Given the description of an element on the screen output the (x, y) to click on. 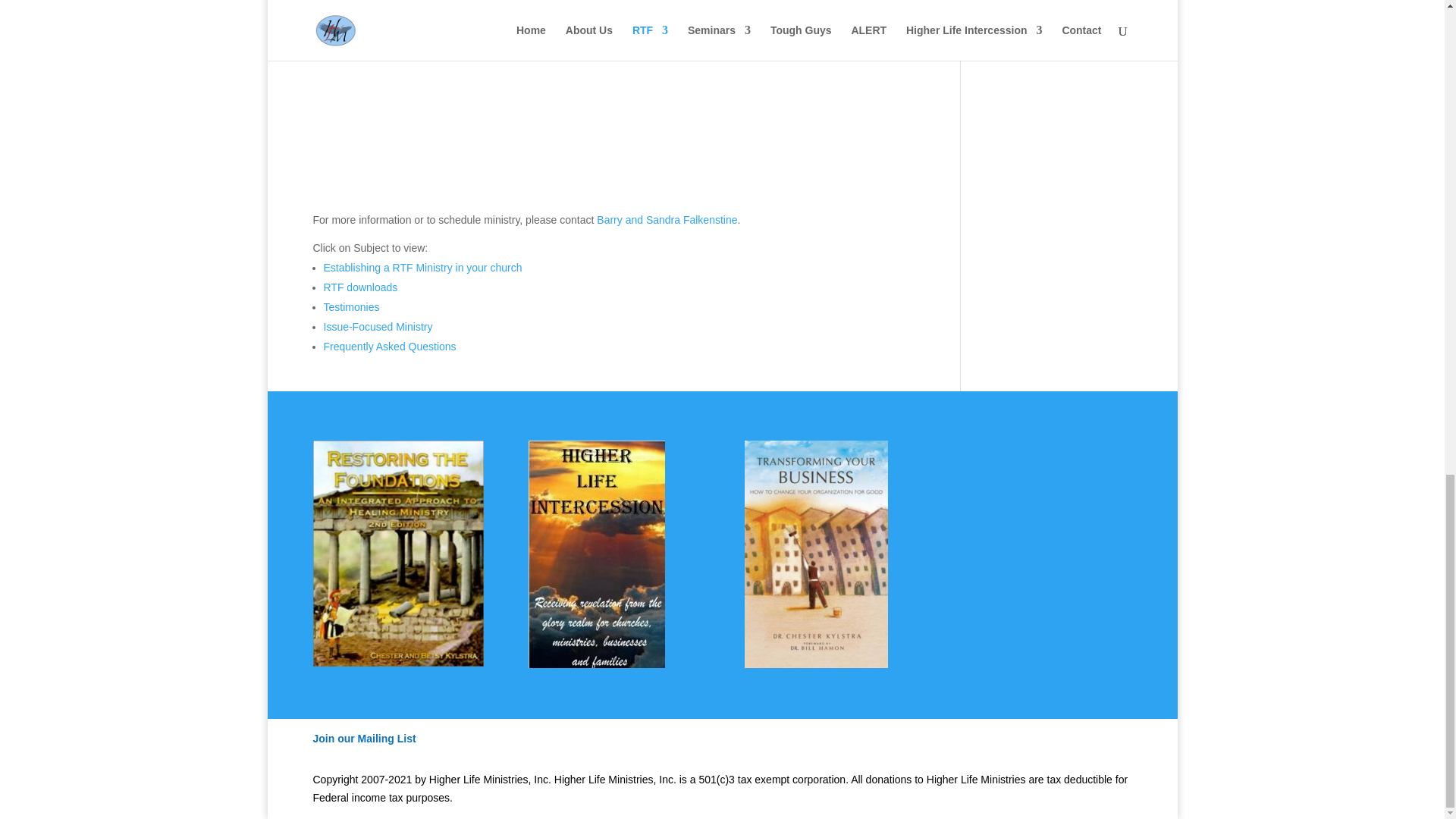
Restoring Your Life (614, 99)
